Given the description of an element on the screen output the (x, y) to click on. 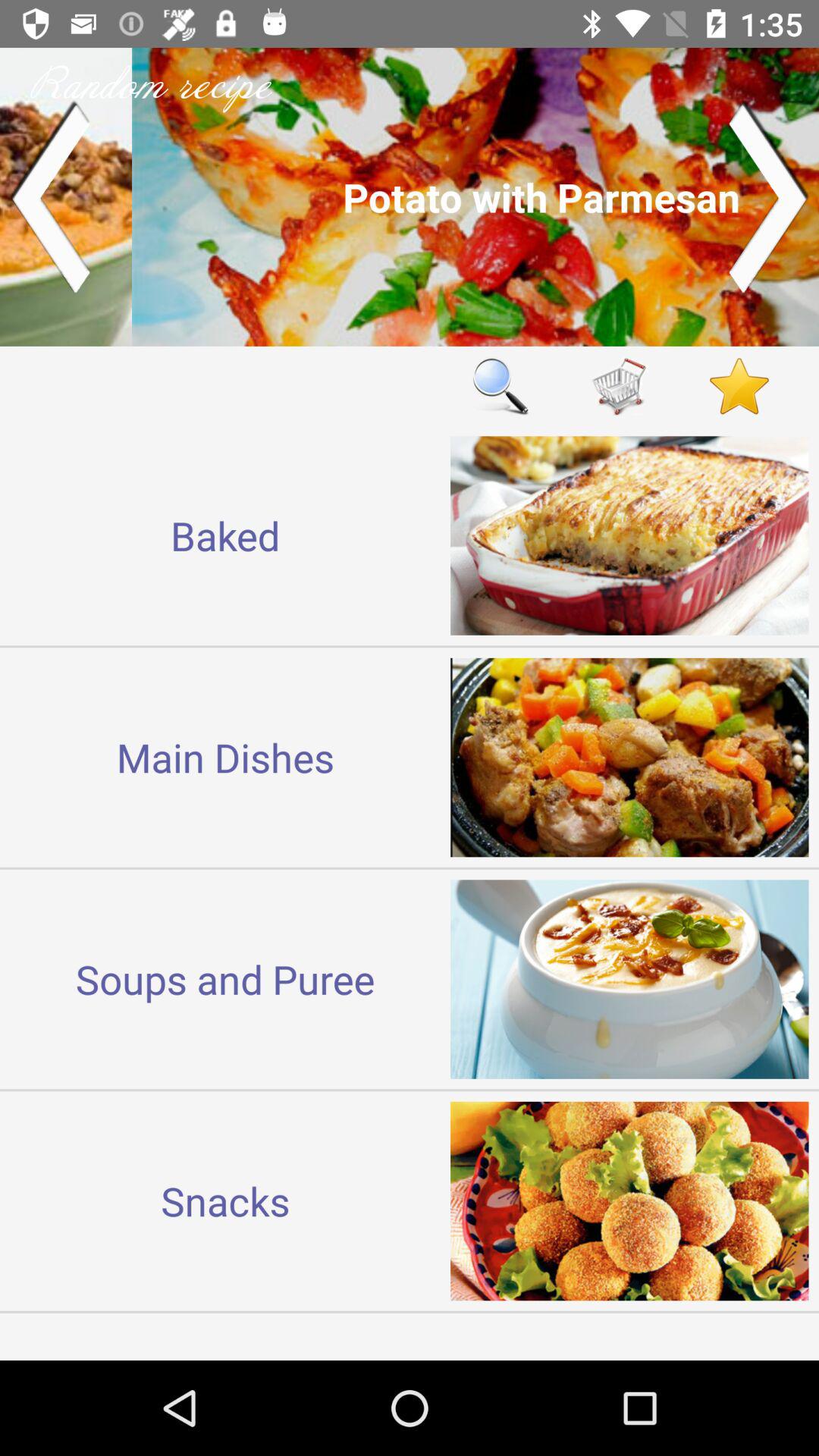
go to recipe (409, 196)
